Given the description of an element on the screen output the (x, y) to click on. 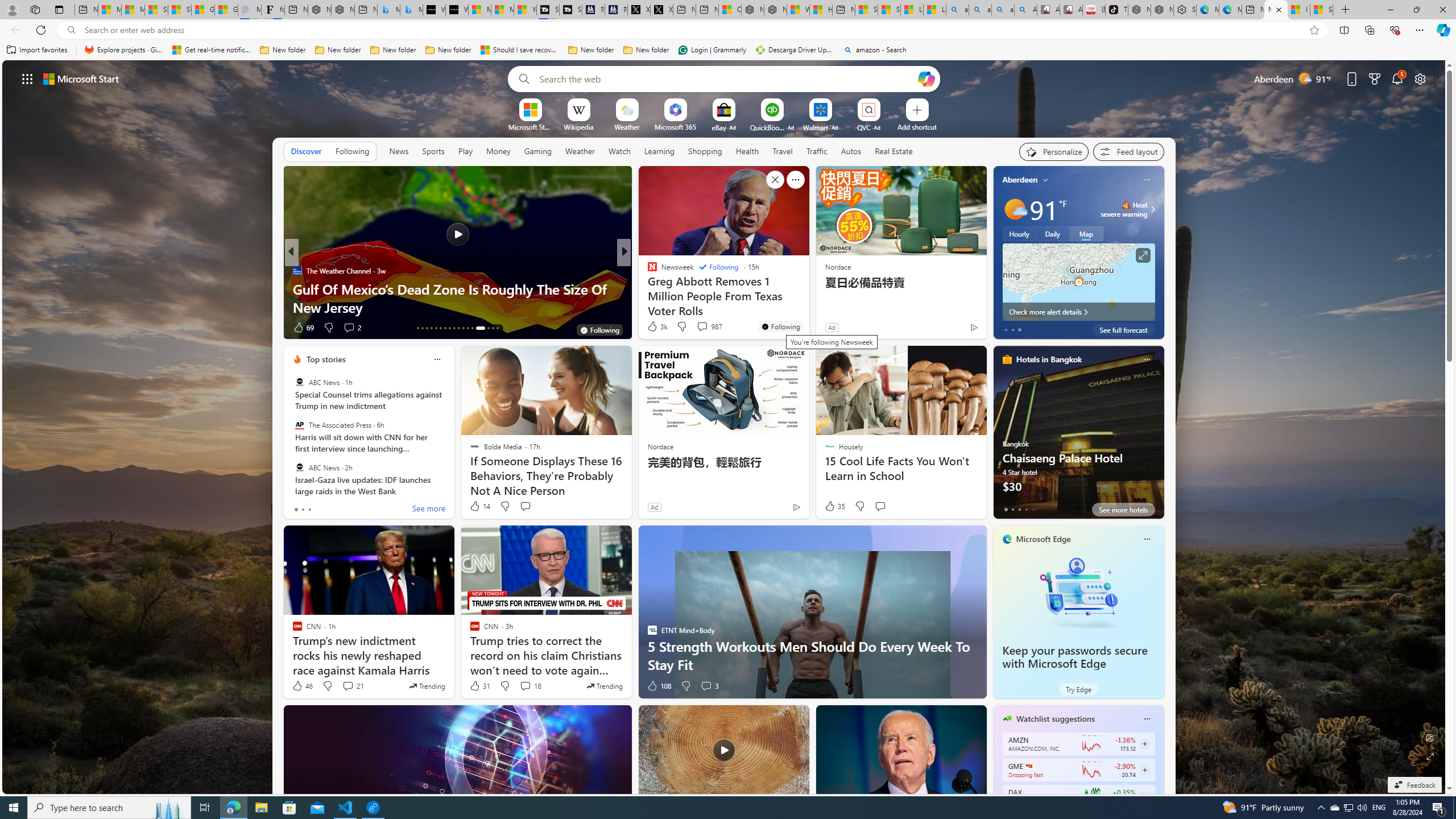
69 Like (303, 327)
amazon - Search Images (1003, 9)
Start the conversation (879, 505)
App bar (728, 29)
X (661, 9)
See full forecast (1123, 329)
Sports (432, 151)
View comments 2 Comment (349, 327)
This story is trending (604, 685)
AutomationID: tab-28 (492, 328)
You're following Newsweek (780, 326)
Ad (653, 506)
